Given the description of an element on the screen output the (x, y) to click on. 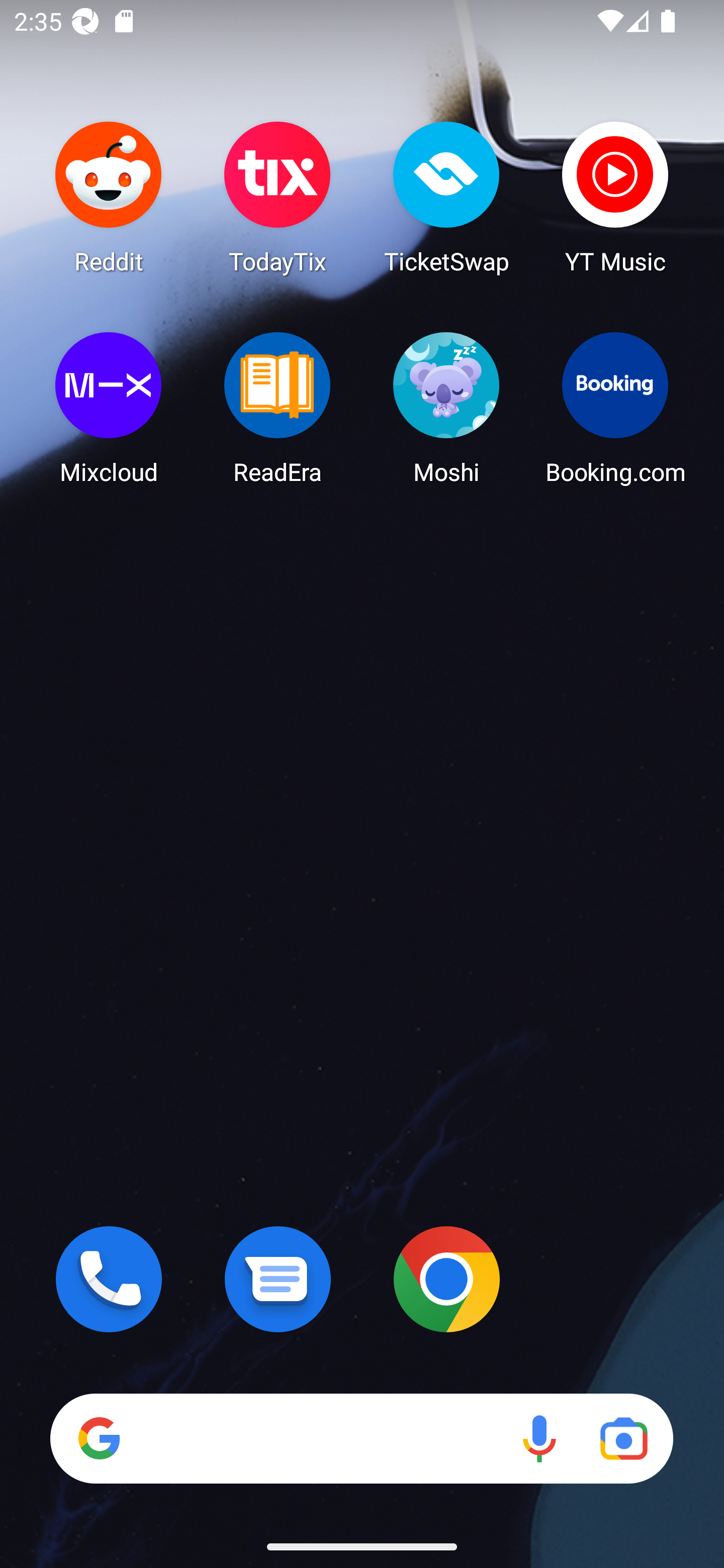
Reddit (108, 196)
TodayTix (277, 196)
TicketSwap (445, 196)
YT Music (615, 196)
Mixcloud (108, 407)
ReadEra (277, 407)
Moshi (445, 407)
Booking.com (615, 407)
Phone (108, 1279)
Messages (277, 1279)
Chrome (446, 1279)
Search Voice search Google Lens (361, 1438)
Voice search (539, 1438)
Google Lens (623, 1438)
